Given the description of an element on the screen output the (x, y) to click on. 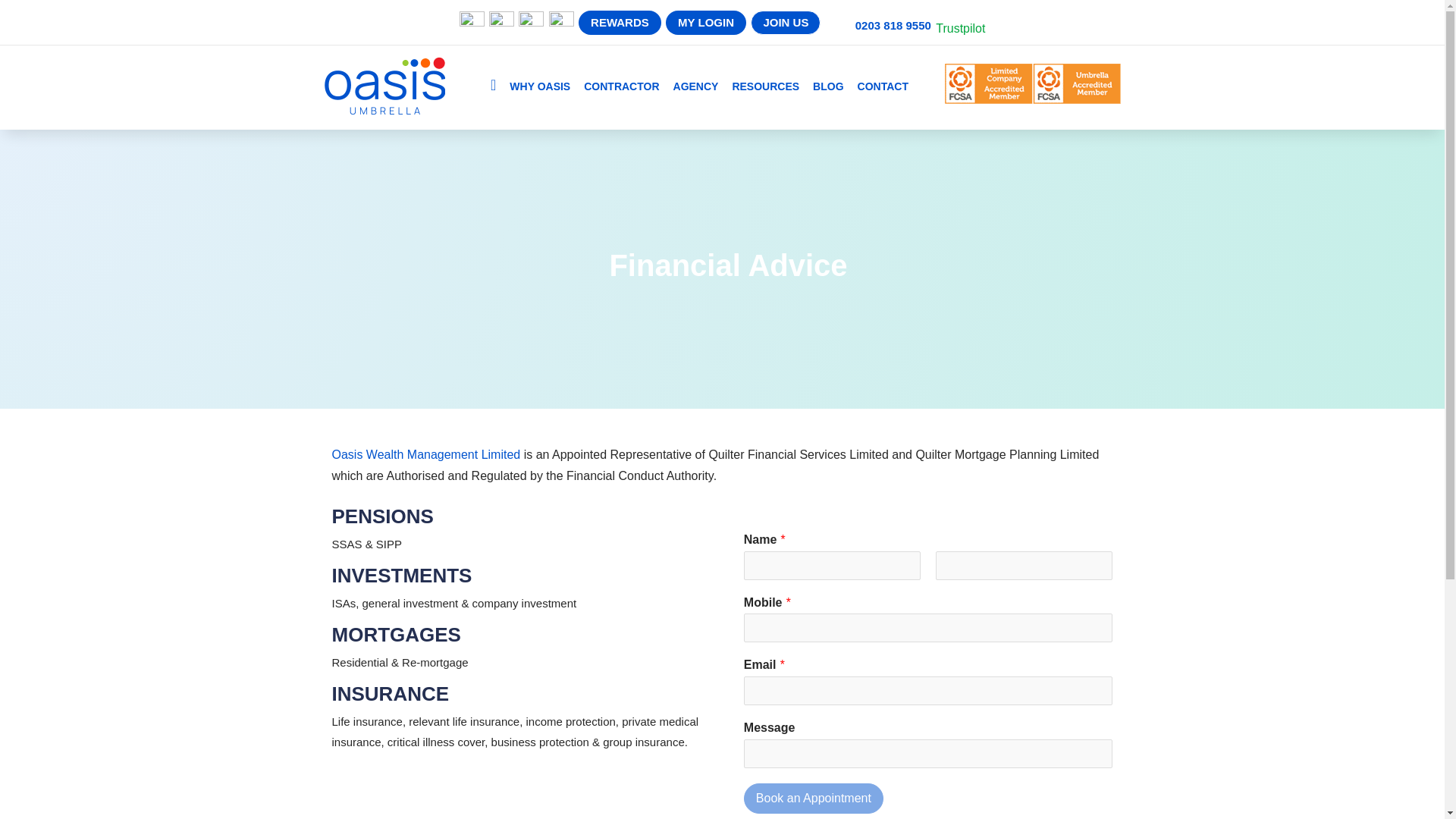
CONTRACTOR (621, 89)
Trustpilot (960, 28)
JOIN US (786, 22)
oasis-umbrella-web (384, 85)
MY LOGIN (705, 22)
WHY OASIS (539, 89)
REWARDS (619, 22)
RESOURCES (765, 89)
BLOG (827, 89)
0203 818 9550 (893, 24)
